Given the description of an element on the screen output the (x, y) to click on. 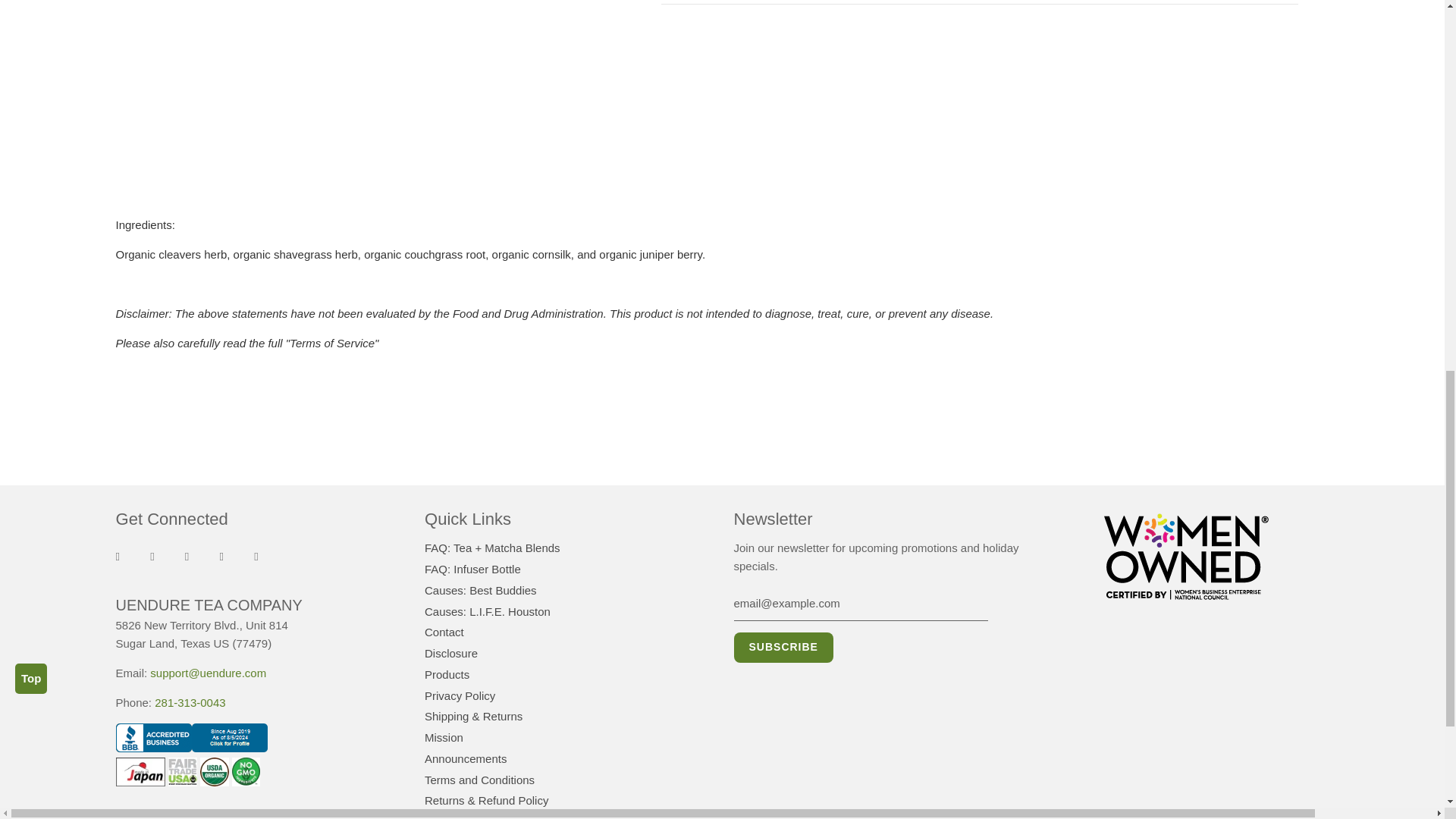
USDA Organic (214, 771)
Subscribe (782, 647)
A Fair Trade Partner (182, 771)
A product of Japan (139, 771)
No GMO Ingredients (245, 771)
